Given the description of an element on the screen output the (x, y) to click on. 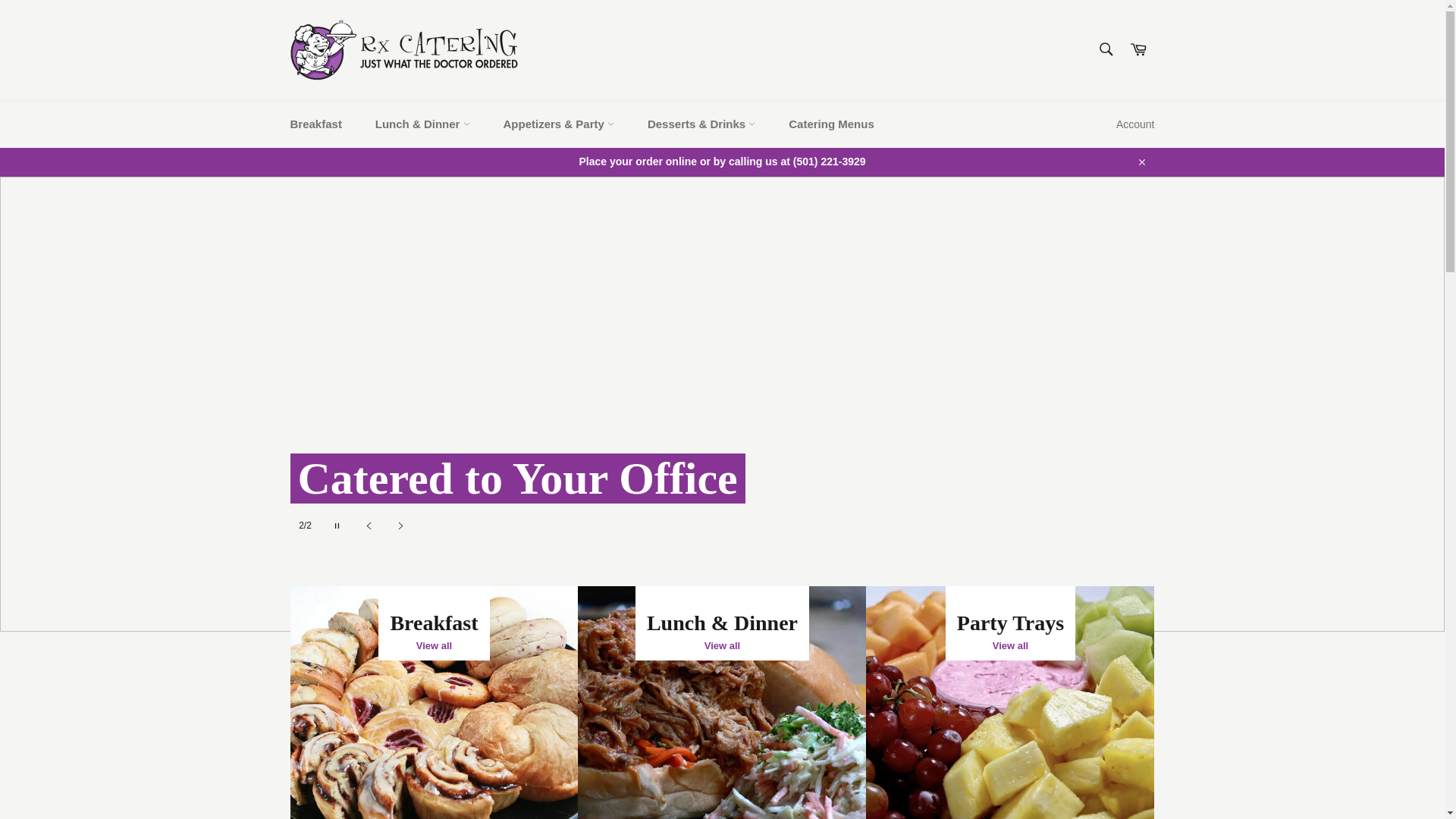
Cart (1138, 50)
Breakfast (315, 124)
Search (1104, 49)
Browse our Breakfast collection (433, 702)
Browse our Party Trays collection (1010, 702)
